Given the description of an element on the screen output the (x, y) to click on. 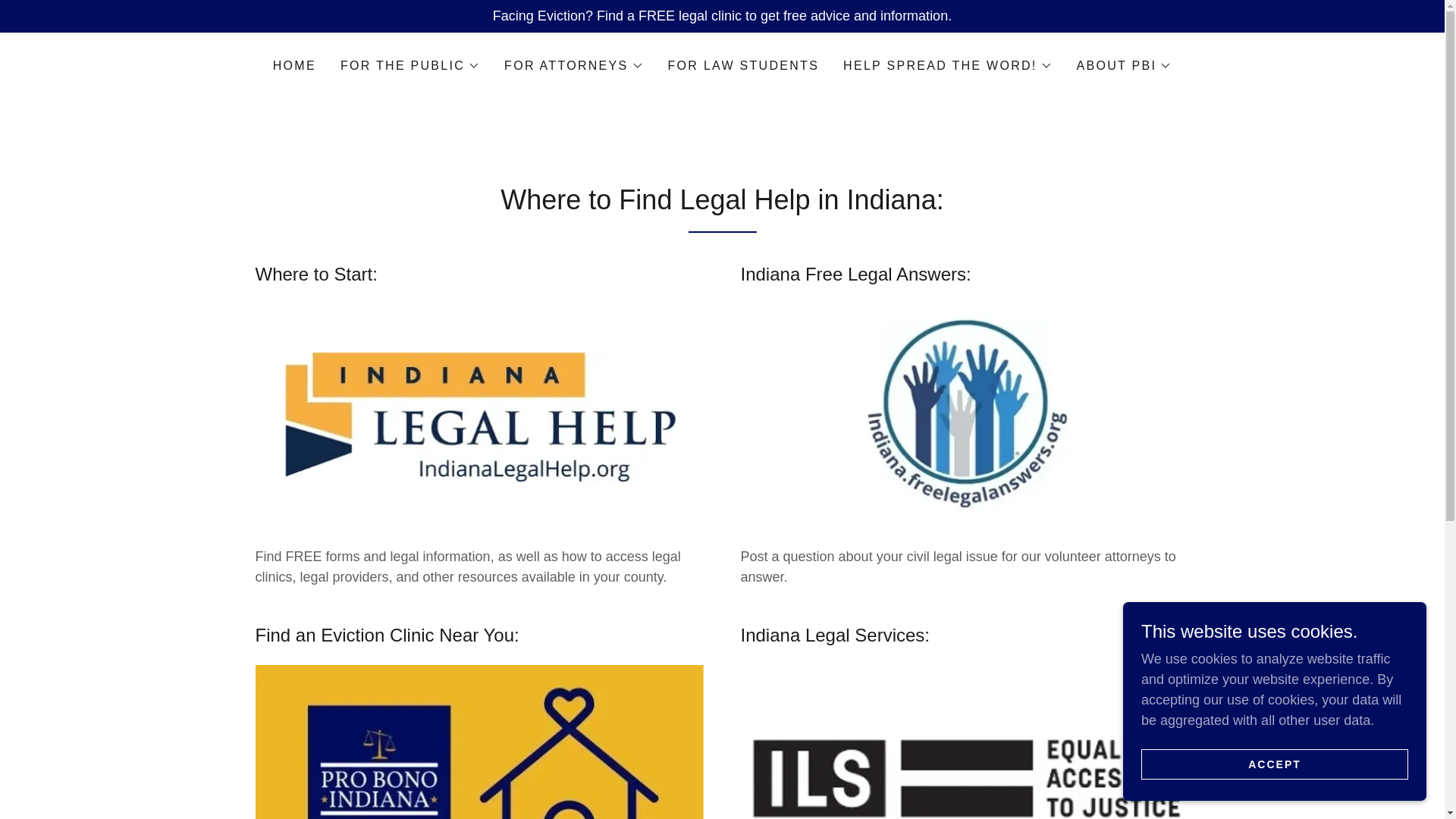
FOR THE PUBLIC (410, 65)
HELP SPREAD THE WORD! (947, 65)
HOME (293, 65)
FOR ATTORNEYS (573, 65)
FOR LAW STUDENTS (743, 65)
ABOUT PBI (1124, 65)
